Given the description of an element on the screen output the (x, y) to click on. 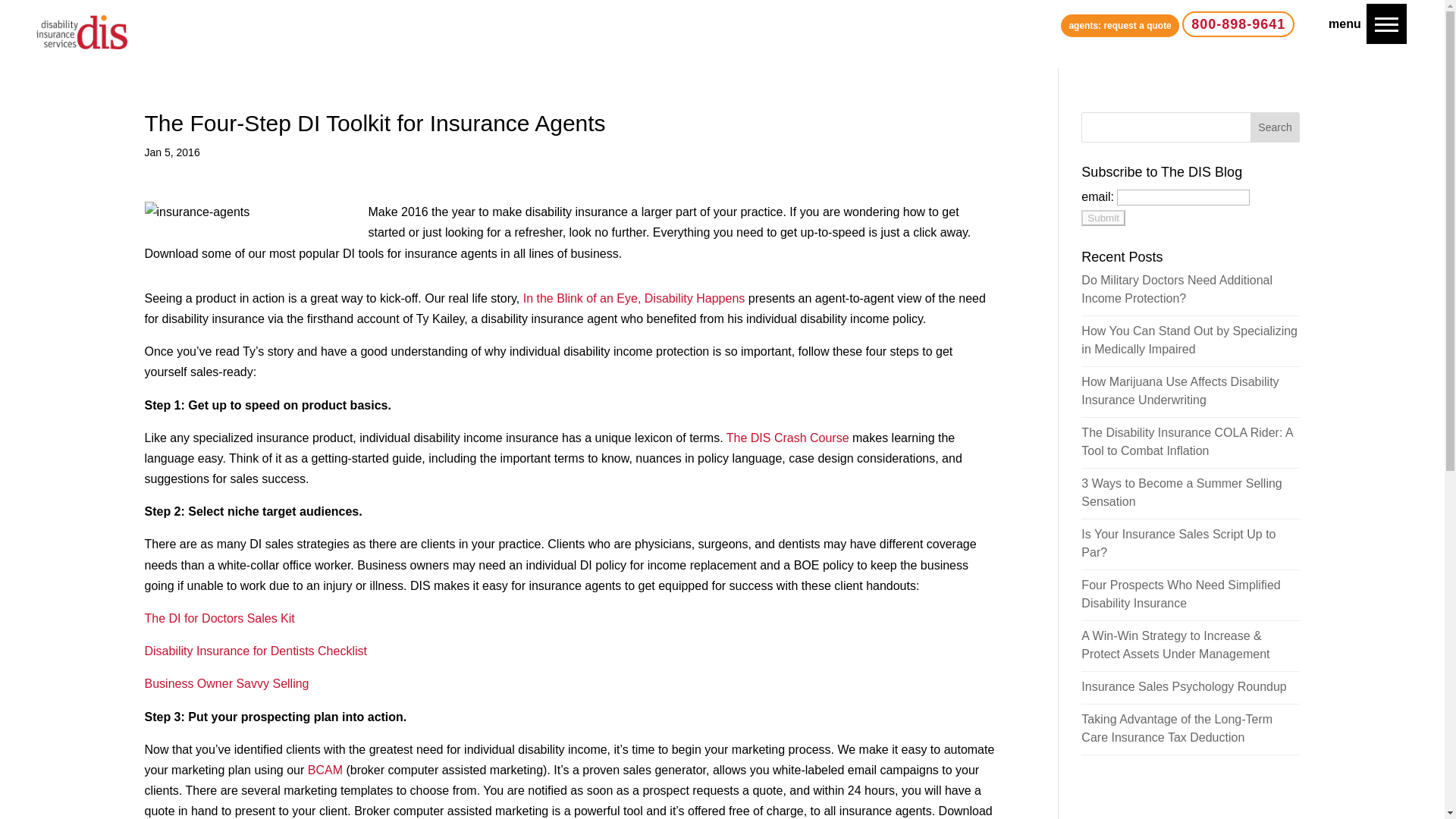
agents: request a quote (1119, 25)
The DI for Doctors Sales Kit (219, 617)
Submit (1102, 217)
BCAM (324, 769)
page-logo (82, 32)
In the Blink of an Eye, Disability Happens (633, 297)
insurance-agents (251, 211)
Search (1275, 127)
Disability Insurance for Dentists Checklist (255, 650)
Business Owner Savvy Selling (226, 683)
